Given the description of an element on the screen output the (x, y) to click on. 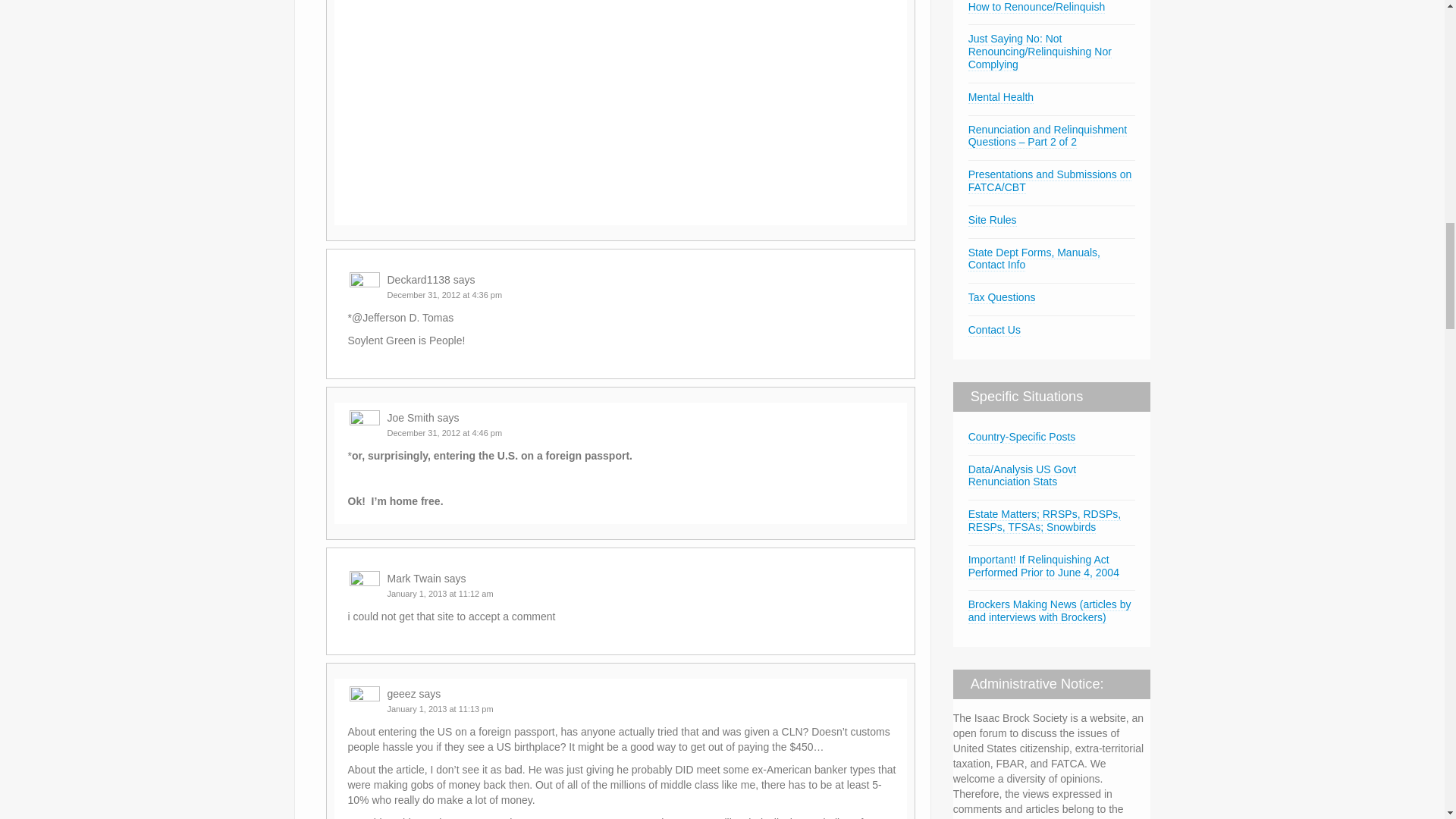
January 1, 2013 at 11:12 am (440, 593)
December 31, 2012 at 4:46 pm (444, 432)
December 31, 2012 at 4:36 pm (444, 294)
January 1, 2013 at 11:13 pm (440, 708)
